Given the description of an element on the screen output the (x, y) to click on. 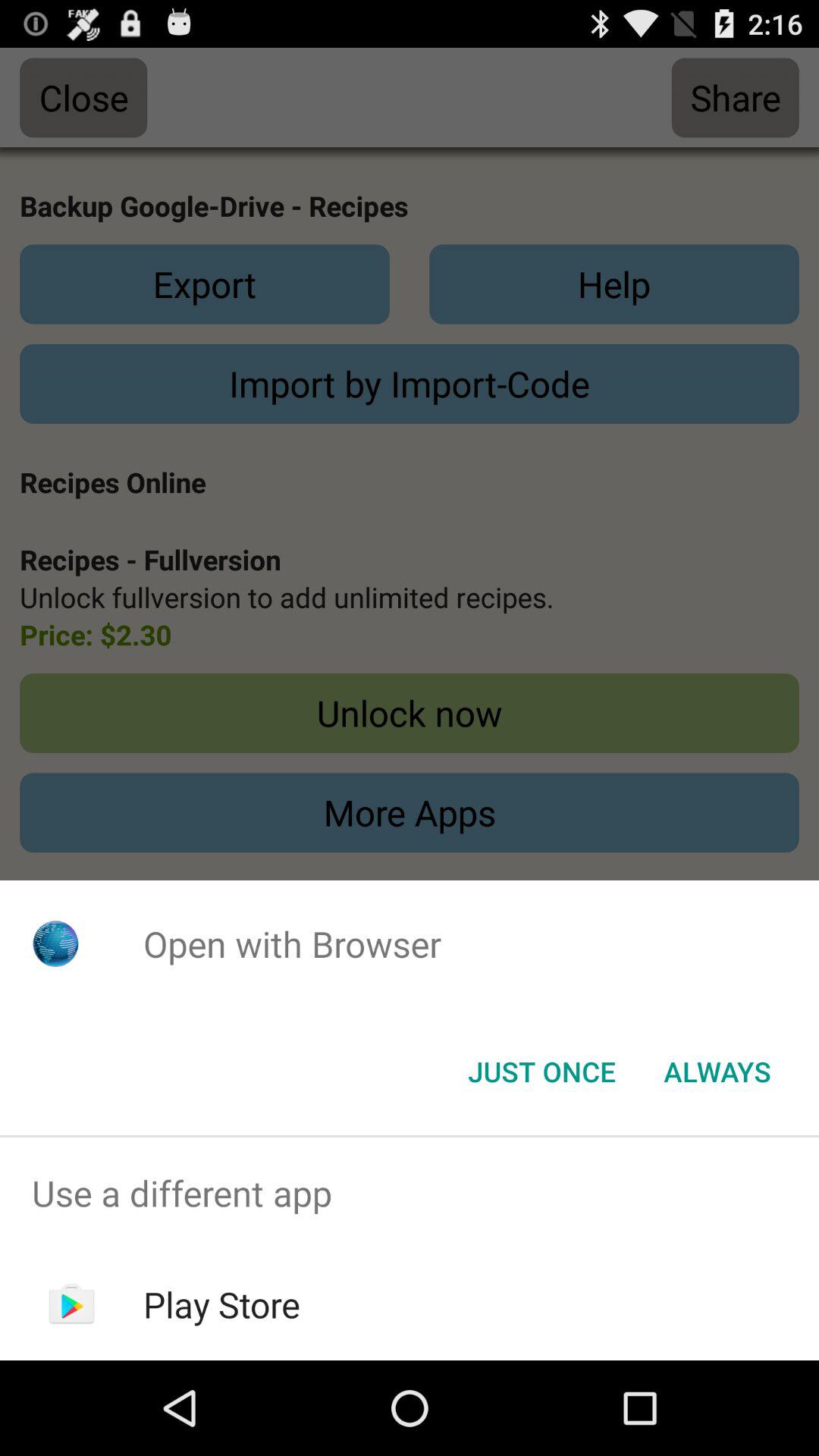
scroll until use a different (409, 1192)
